Given the description of an element on the screen output the (x, y) to click on. 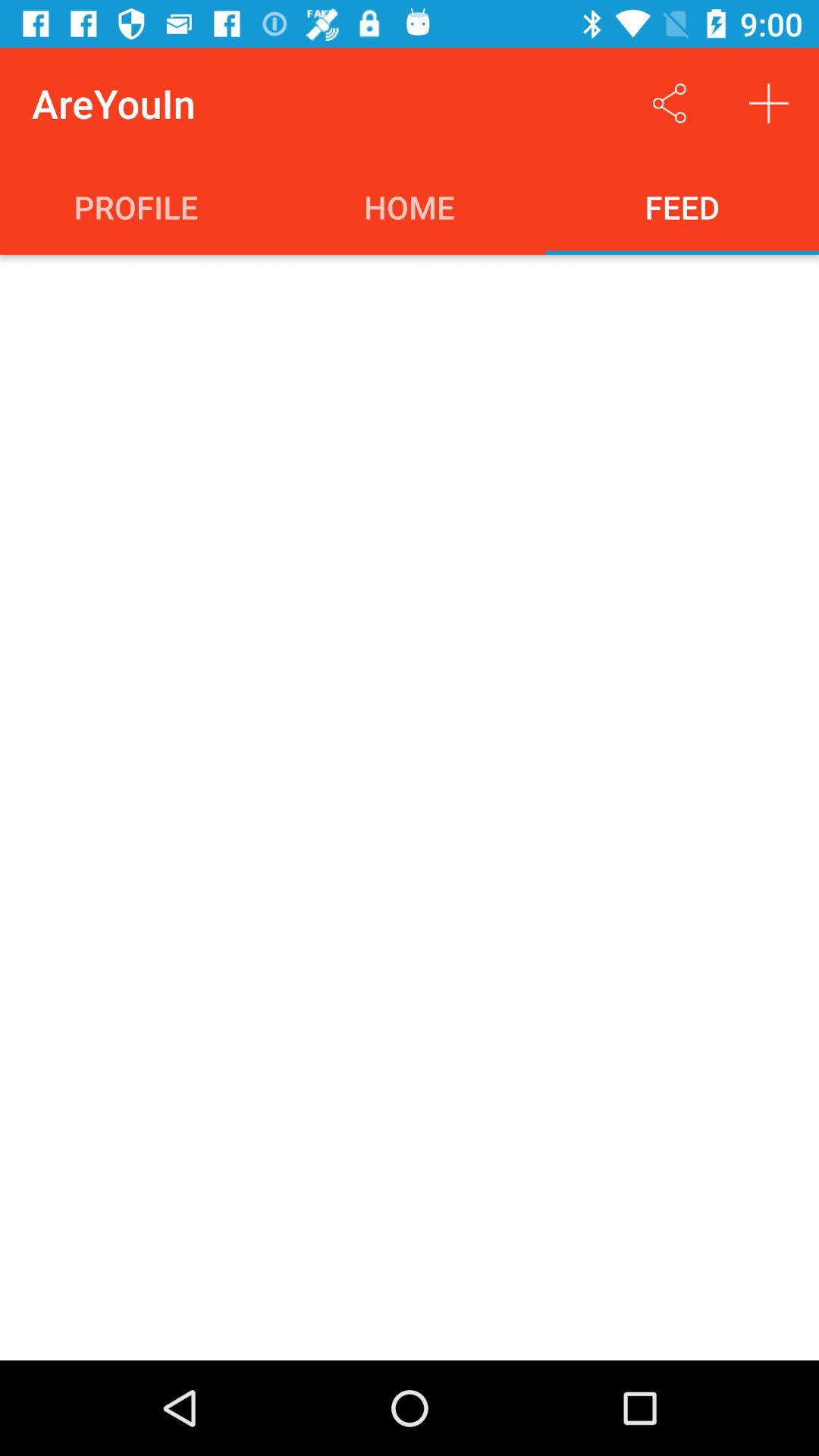
to share (669, 103)
